Given the description of an element on the screen output the (x, y) to click on. 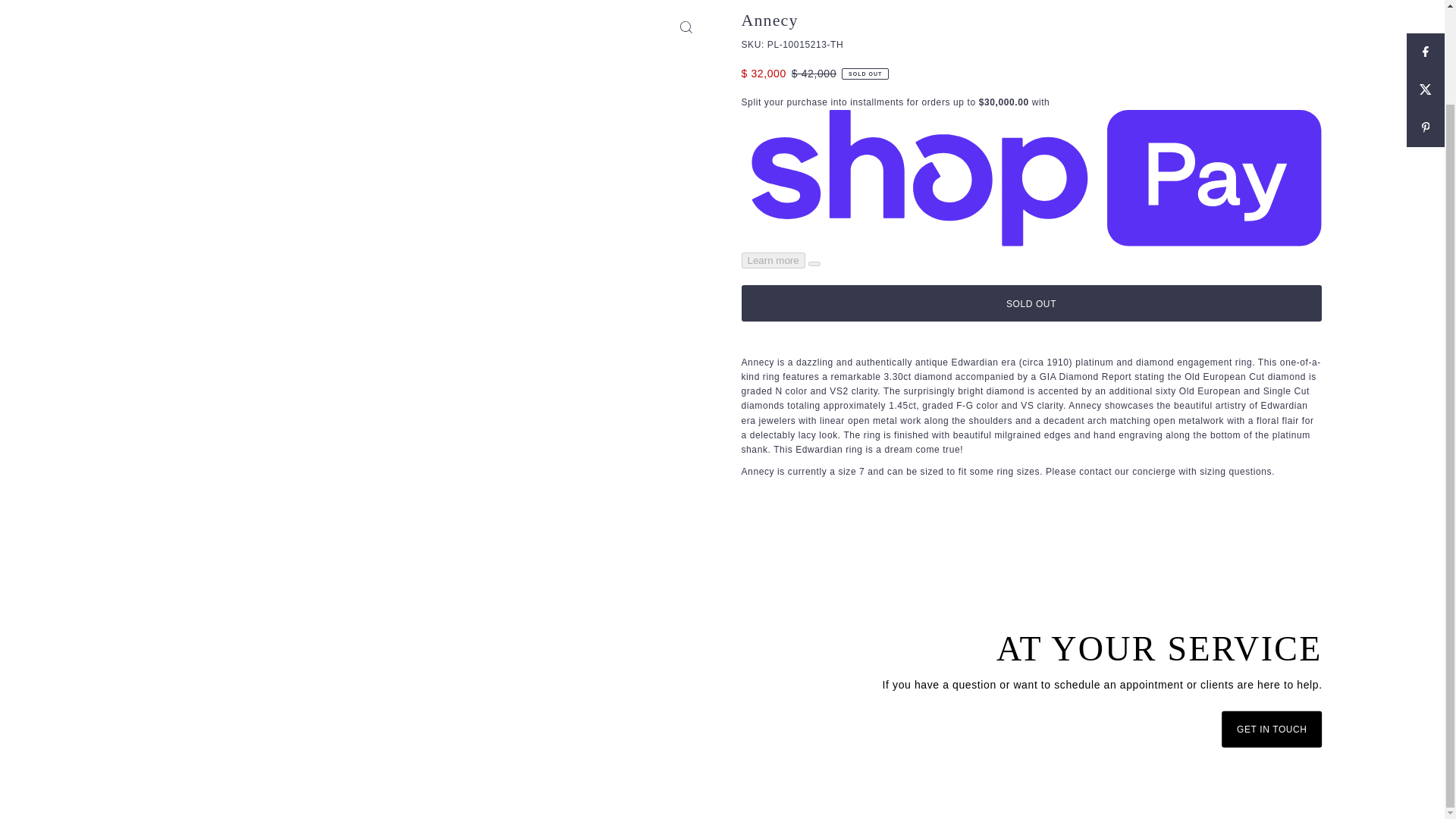
Click to zoom (685, 27)
Sold Out (1031, 303)
